Given the description of an element on the screen output the (x, y) to click on. 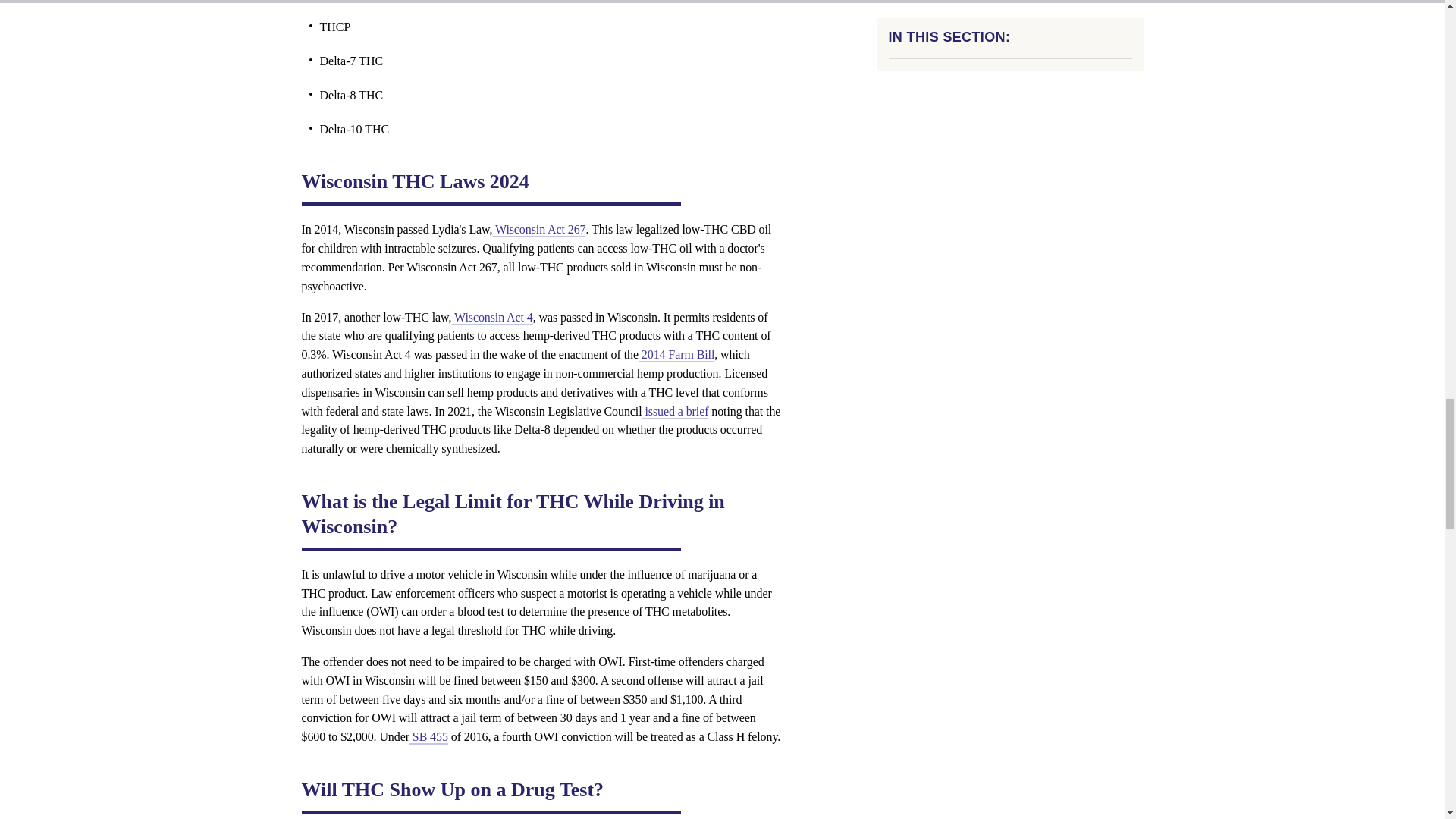
issued a brief (675, 410)
Wisconsin Act 267 (538, 228)
2014 Farm Bill (676, 354)
Wisconsin Act 4 (491, 317)
SB 455 (428, 736)
